Given the description of an element on the screen output the (x, y) to click on. 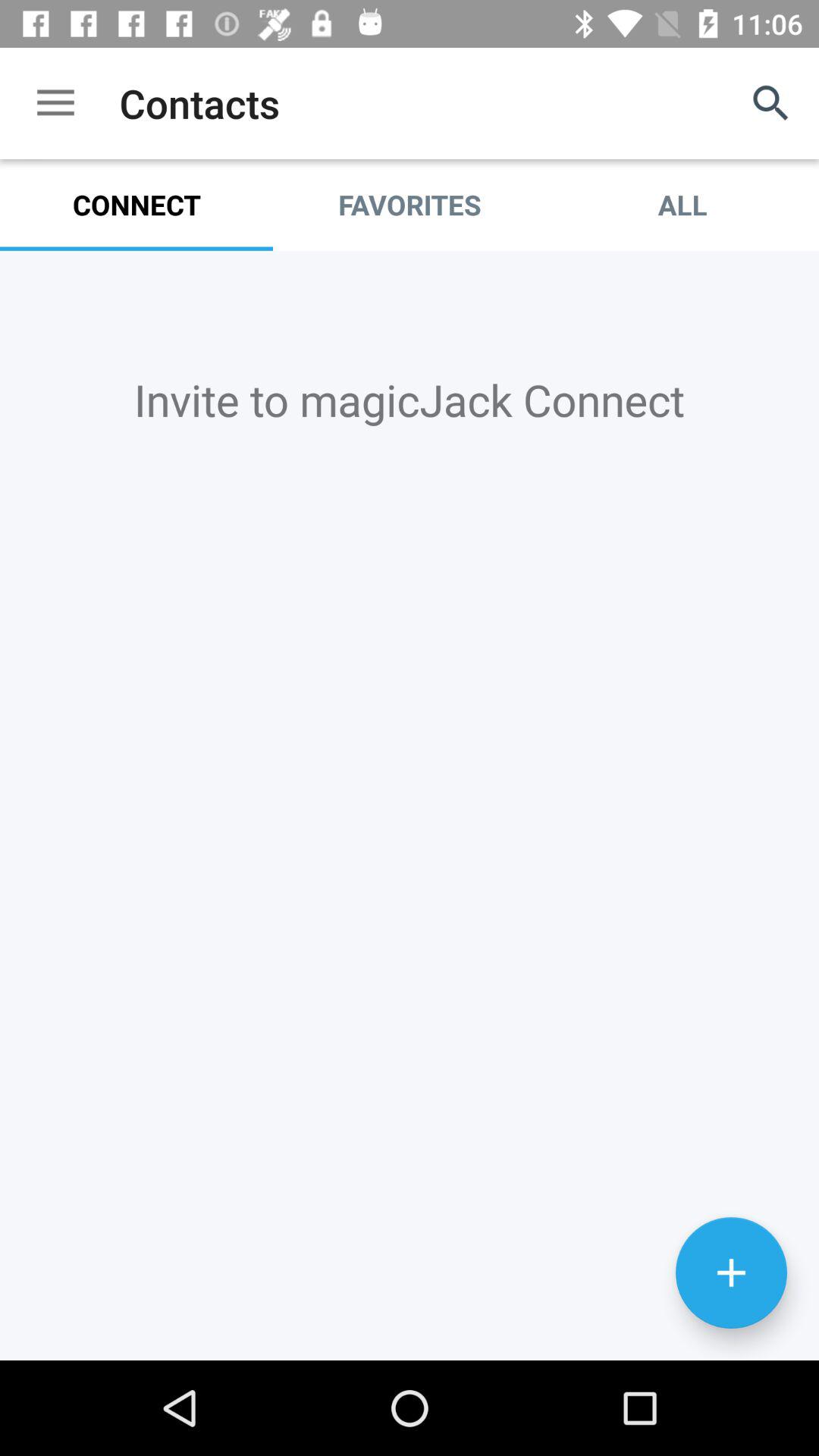
turn on icon to the right of the favorites icon (771, 103)
